Given the description of an element on the screen output the (x, y) to click on. 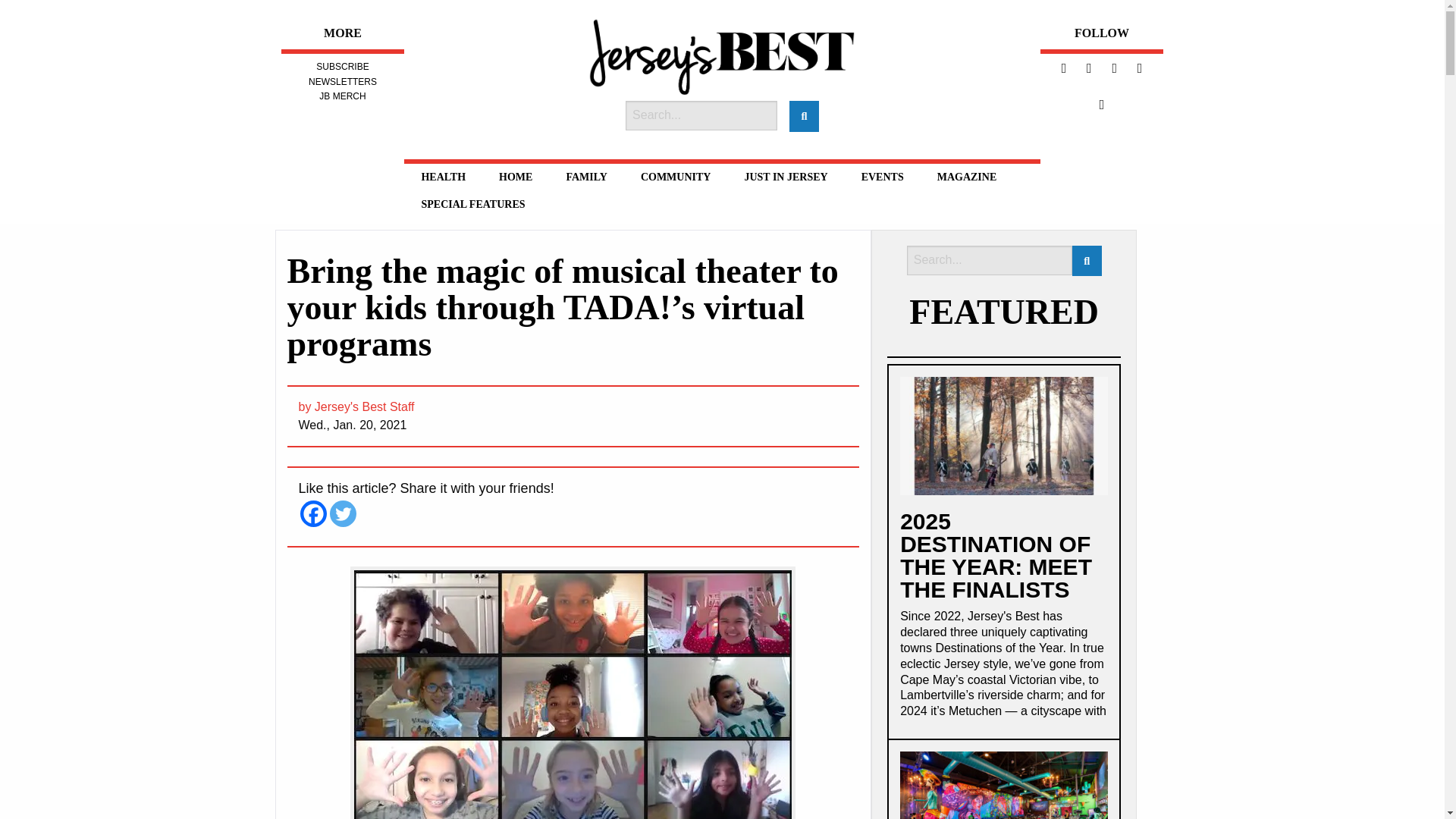
HOME (515, 176)
HEALTH (443, 176)
Search for: (701, 115)
MAGAZINE (966, 176)
Facebook (312, 513)
EVENTS (881, 176)
JUST IN JERSEY (786, 176)
NEWSLETTERS (342, 81)
SPECIAL FEATURES (473, 204)
Twitter (342, 513)
SUBSCRIBE (341, 66)
COMMUNITY (675, 176)
JB MERCH (341, 95)
FAMILY (585, 176)
